Given the description of an element on the screen output the (x, y) to click on. 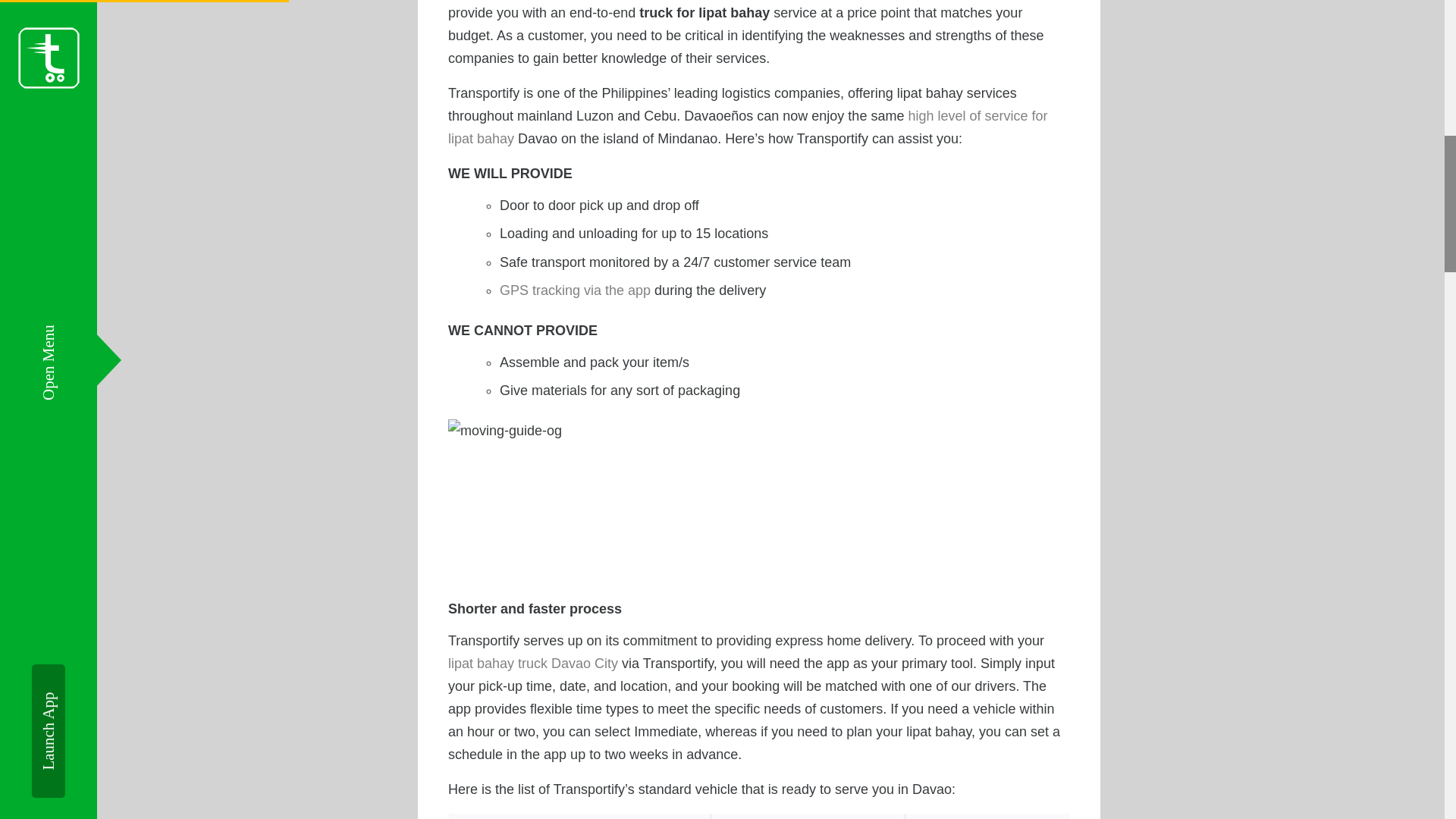
lipat bahay truck Davao City (532, 663)
GPS tracking via the app (574, 290)
high level of service for lipat bahay (748, 127)
